Given the description of an element on the screen output the (x, y) to click on. 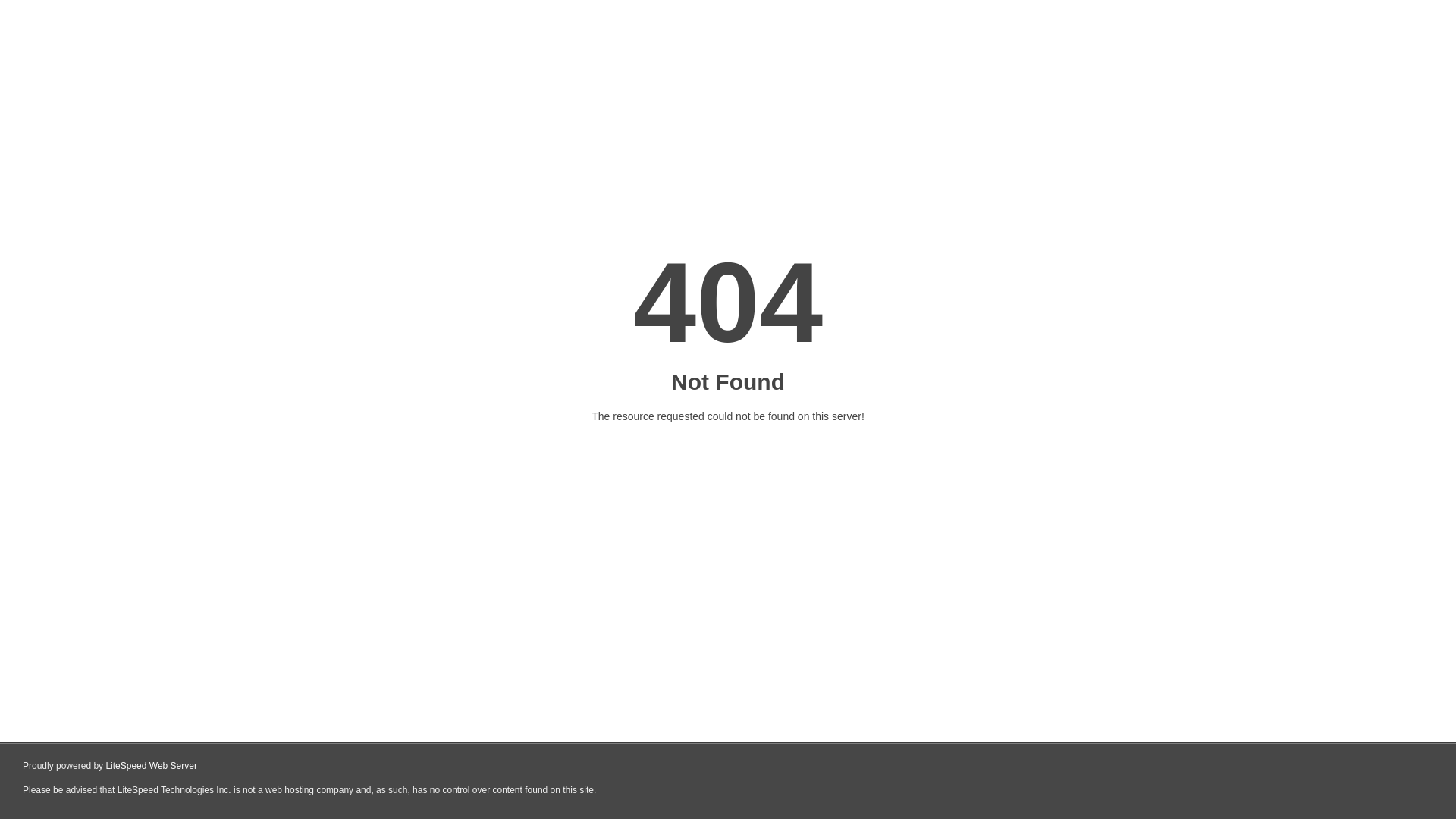
LiteSpeed Web Server Element type: text (151, 765)
